Given the description of an element on the screen output the (x, y) to click on. 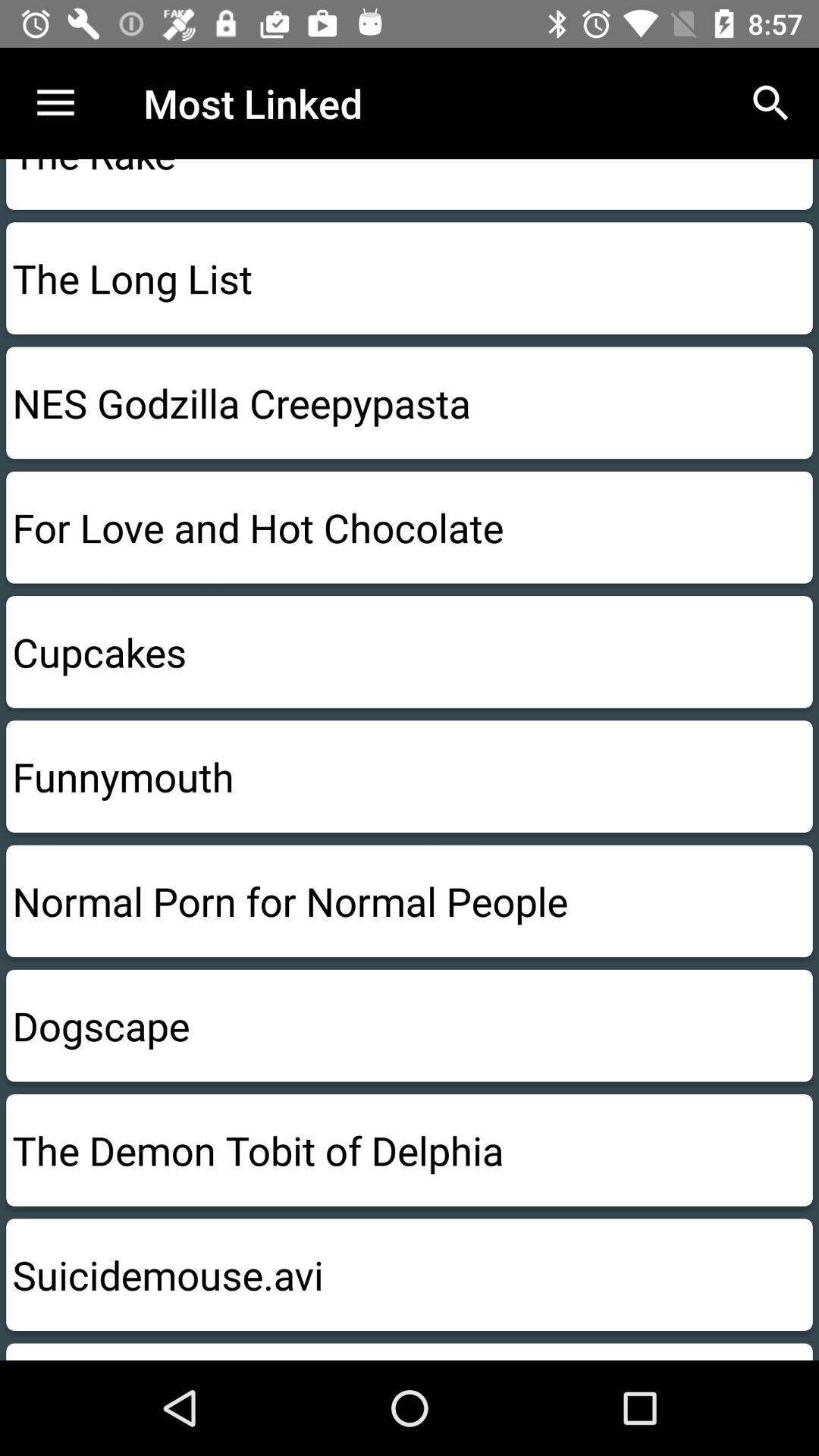
launch the item above the the rake icon (55, 103)
